Given the description of an element on the screen output the (x, y) to click on. 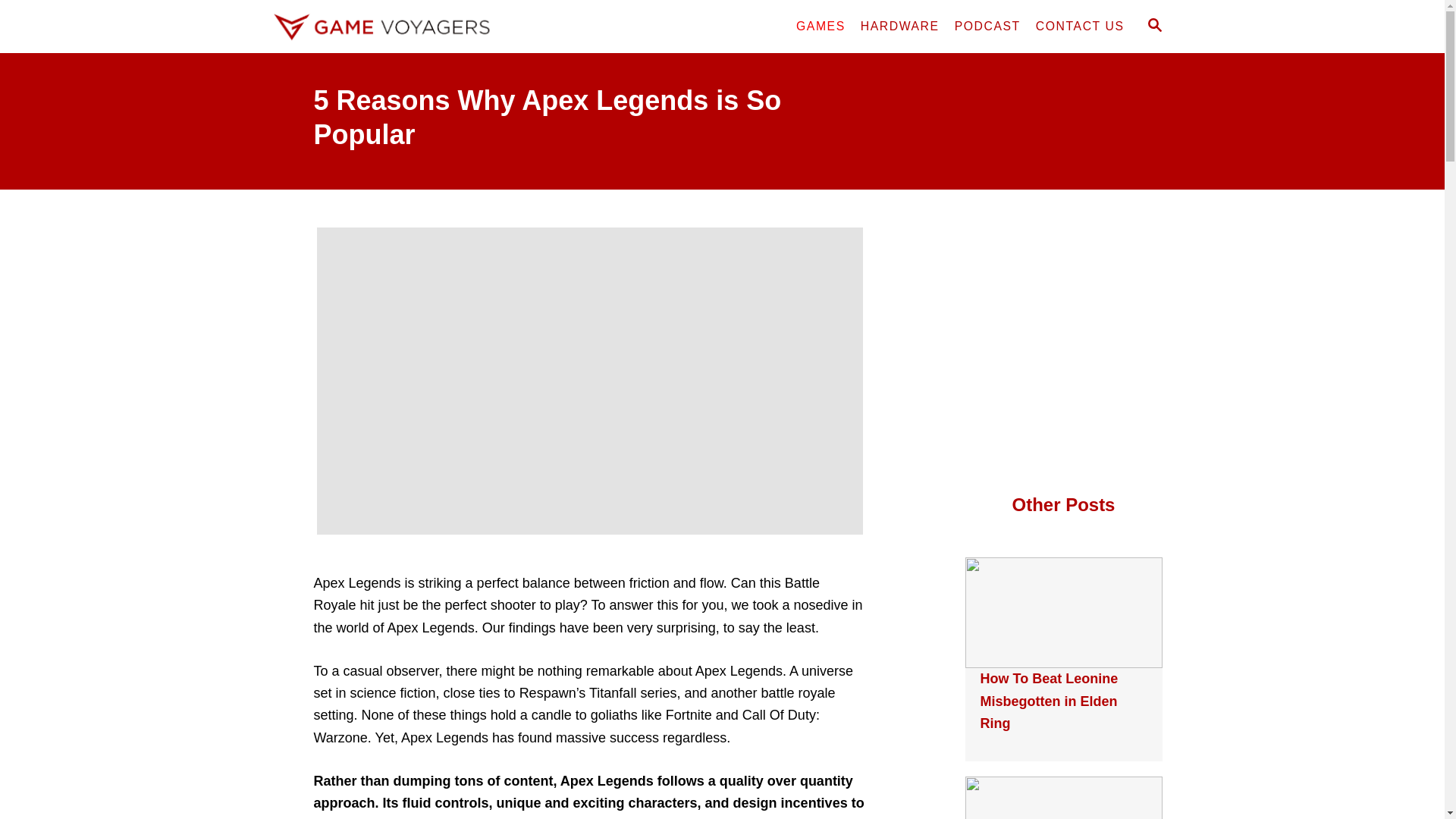
How To Beat Leonine Misbegotten in Elden Ring (1048, 700)
GAMES (821, 26)
HARDWARE (900, 26)
SEARCH (1153, 26)
Game Voyagers (403, 26)
CONTACT US (1079, 26)
PODCAST (987, 26)
